Given the description of an element on the screen output the (x, y) to click on. 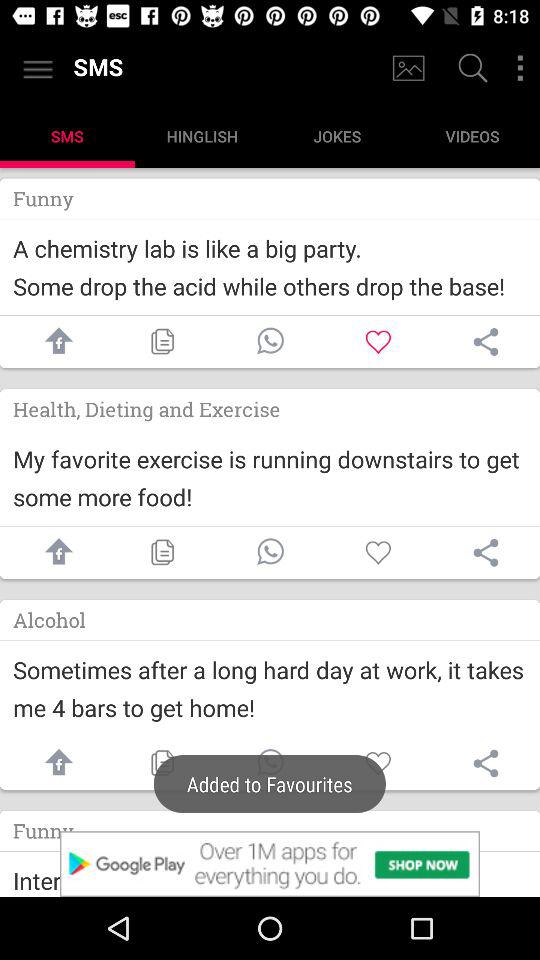
share joke (270, 341)
